Given the description of an element on the screen output the (x, y) to click on. 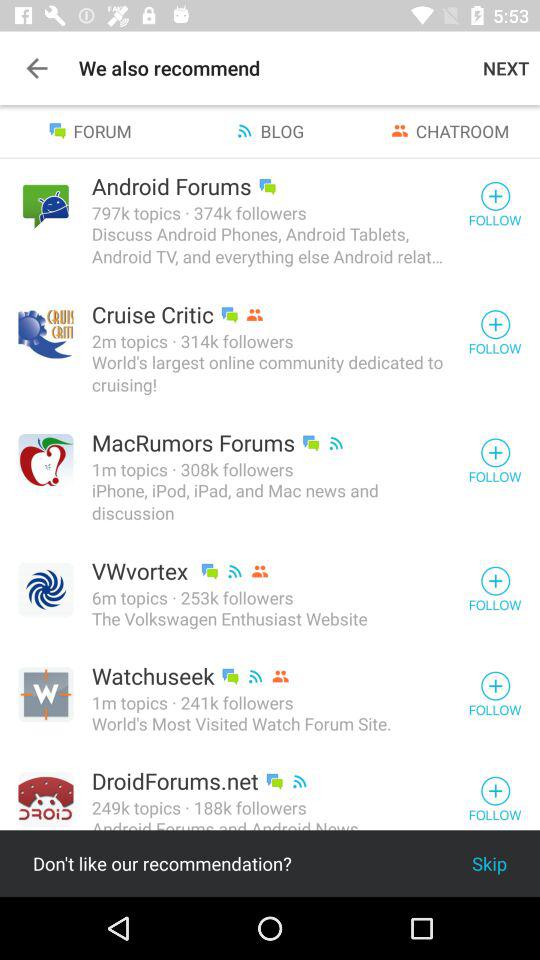
turn off item above forum (36, 68)
